Given the description of an element on the screen output the (x, y) to click on. 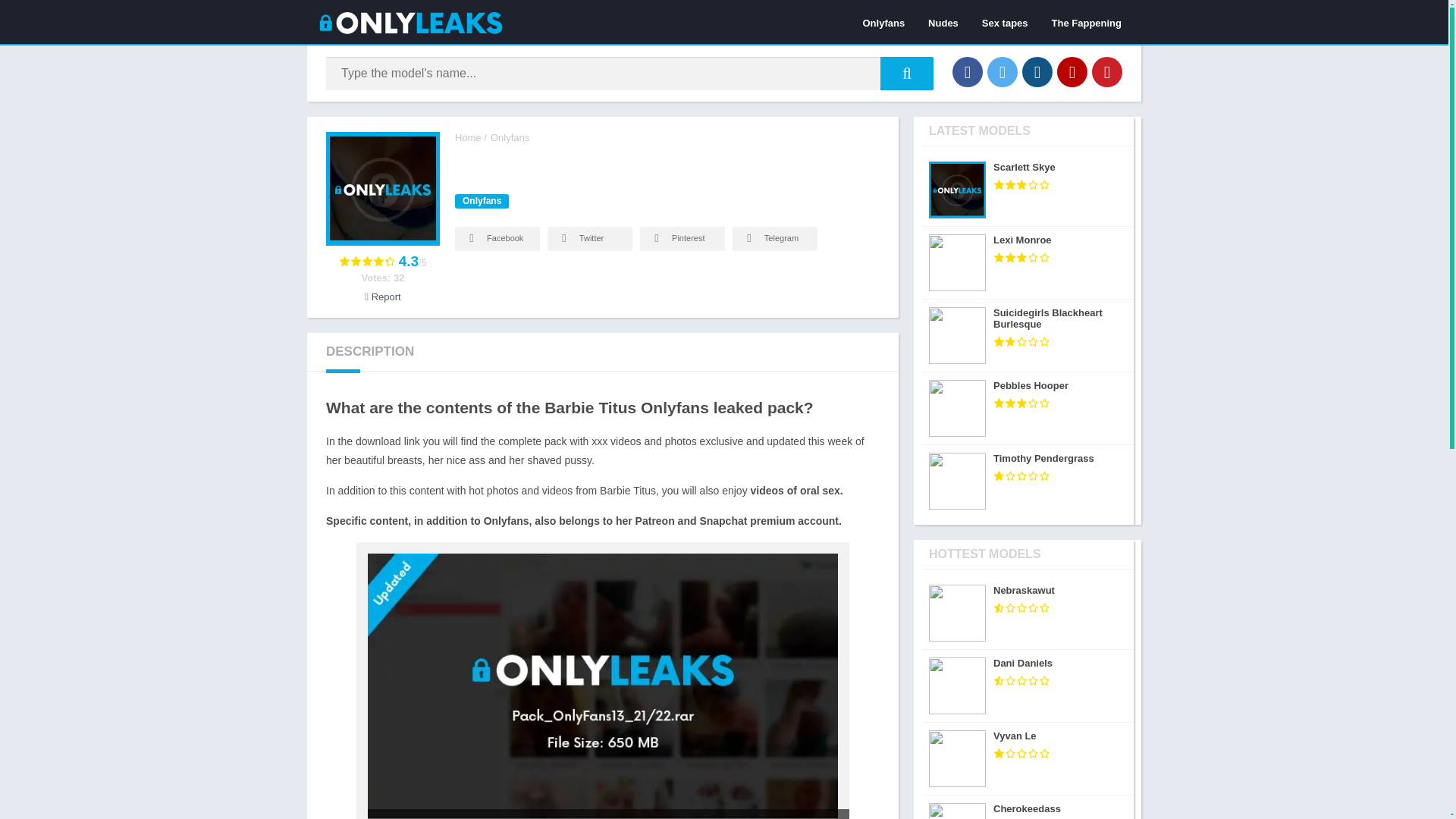
Onlyfans (509, 137)
Telegram (774, 238)
YouTube (1072, 71)
Nudes (943, 22)
Onlyfans (882, 22)
Pinterest (682, 238)
Type the model's name... (906, 73)
Report (382, 296)
Twitter (1002, 71)
Onlyfans (481, 201)
